Given the description of an element on the screen output the (x, y) to click on. 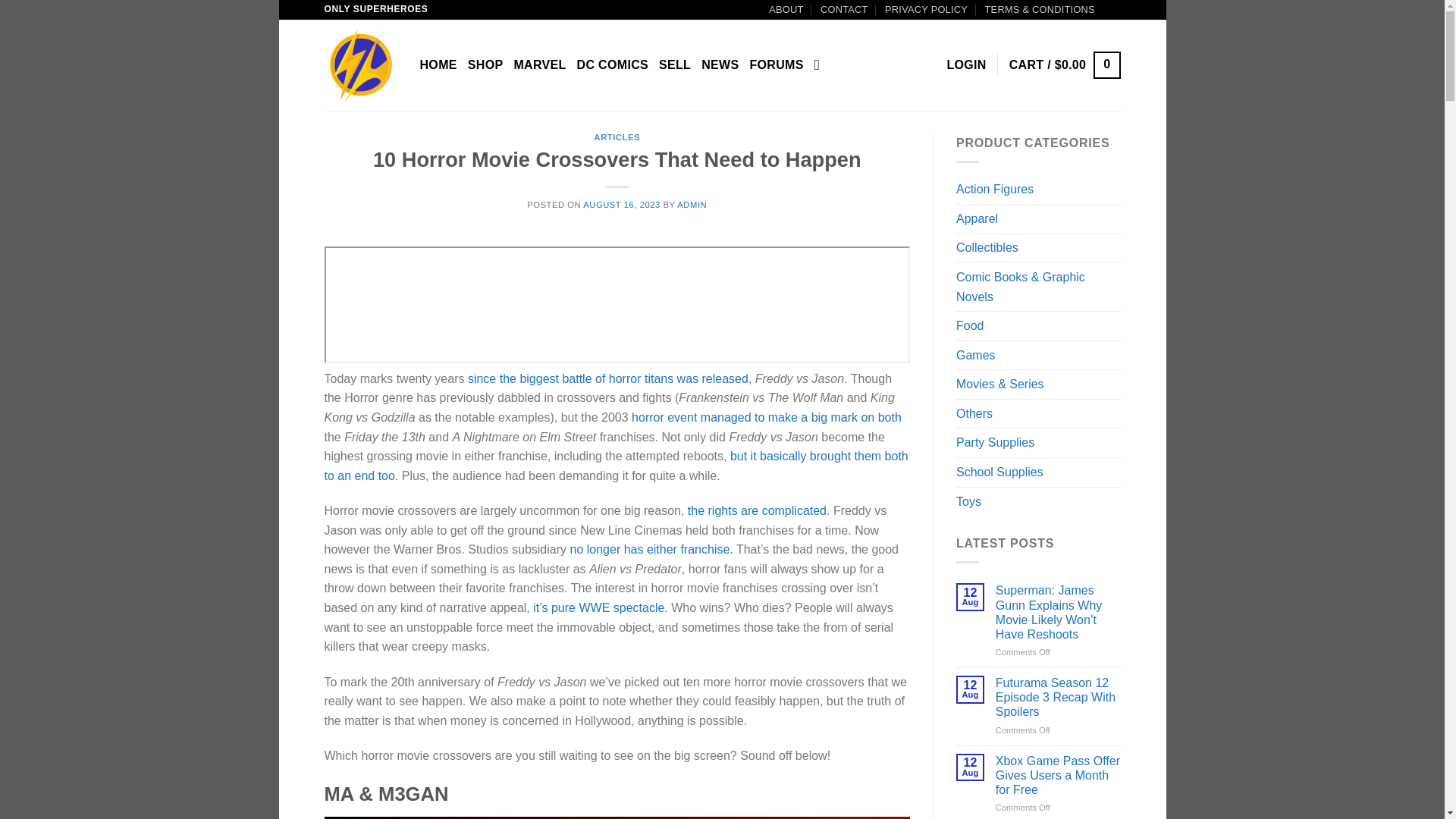
ADMIN (691, 204)
the rights are complicated (757, 510)
since the biggest battle of horror titans was released (607, 378)
SHOP (485, 64)
horror event managed to make a big mark on both (766, 417)
NEWS (719, 64)
SELL (674, 64)
CONTACT (844, 9)
AUGUST 16, 2023 (621, 204)
no longer has either franchise (650, 549)
